Given the description of an element on the screen output the (x, y) to click on. 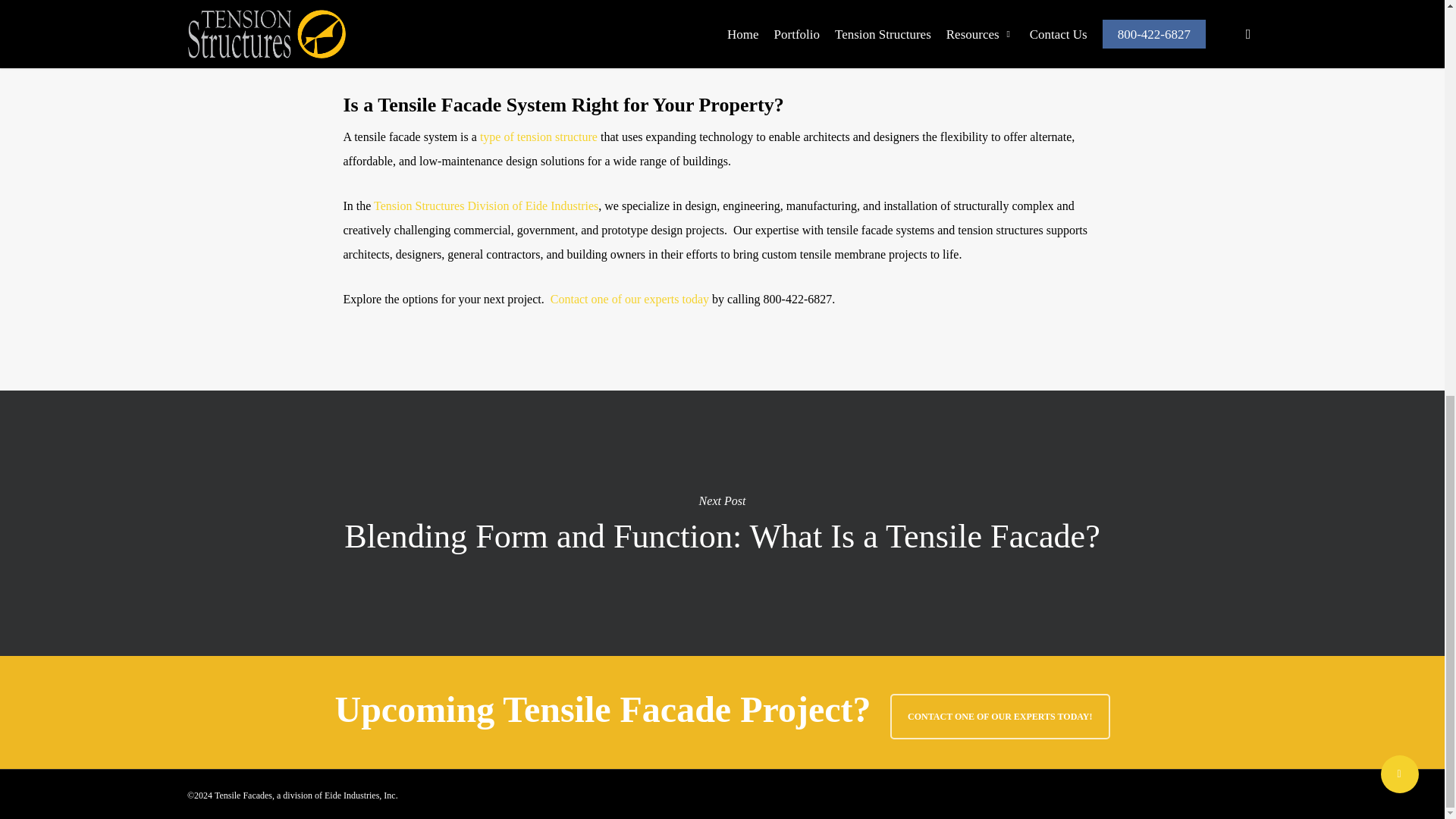
Tension Structures Division of Eide Industries (486, 205)
Contact one of our experts today (629, 298)
type of tension structure (538, 136)
CONTACT ONE OF OUR EXPERTS TODAY! (999, 716)
